Given the description of an element on the screen output the (x, y) to click on. 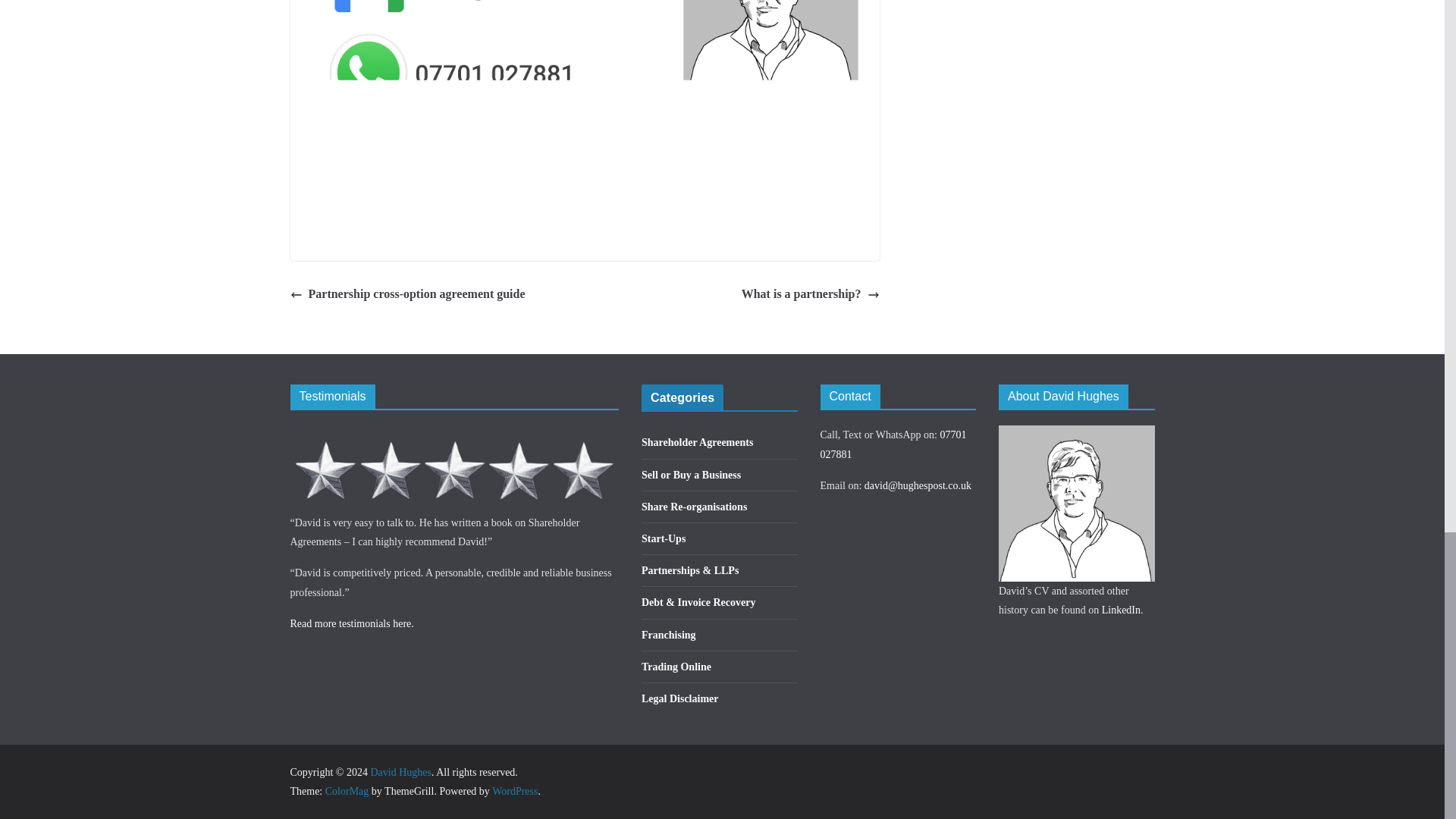
ColorMag (346, 790)
Partnership cross-option agreement guide (406, 294)
LinkedIn (1121, 609)
Shareholder Agreements (697, 441)
WordPress (514, 790)
Read more testimonials here. (351, 623)
David Hughes, Commercial Law Solicitor (453, 434)
Share Re-organisations (694, 506)
David Hughes (399, 772)
Start-Ups (663, 538)
Sell or Buy a Business (691, 474)
What is a partnership? (810, 294)
